Given the description of an element on the screen output the (x, y) to click on. 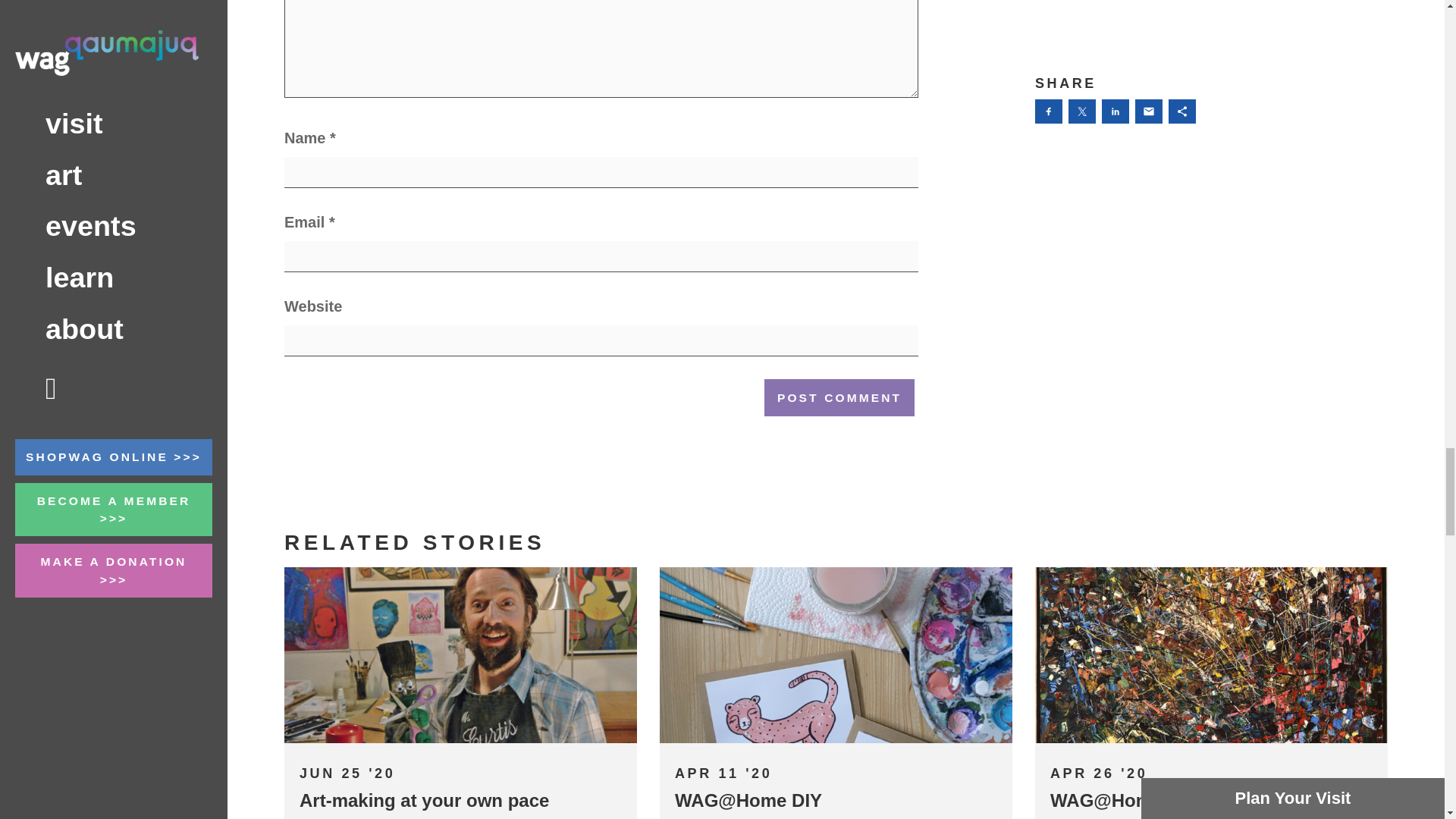
Post Comment (839, 397)
